Given the description of an element on the screen output the (x, y) to click on. 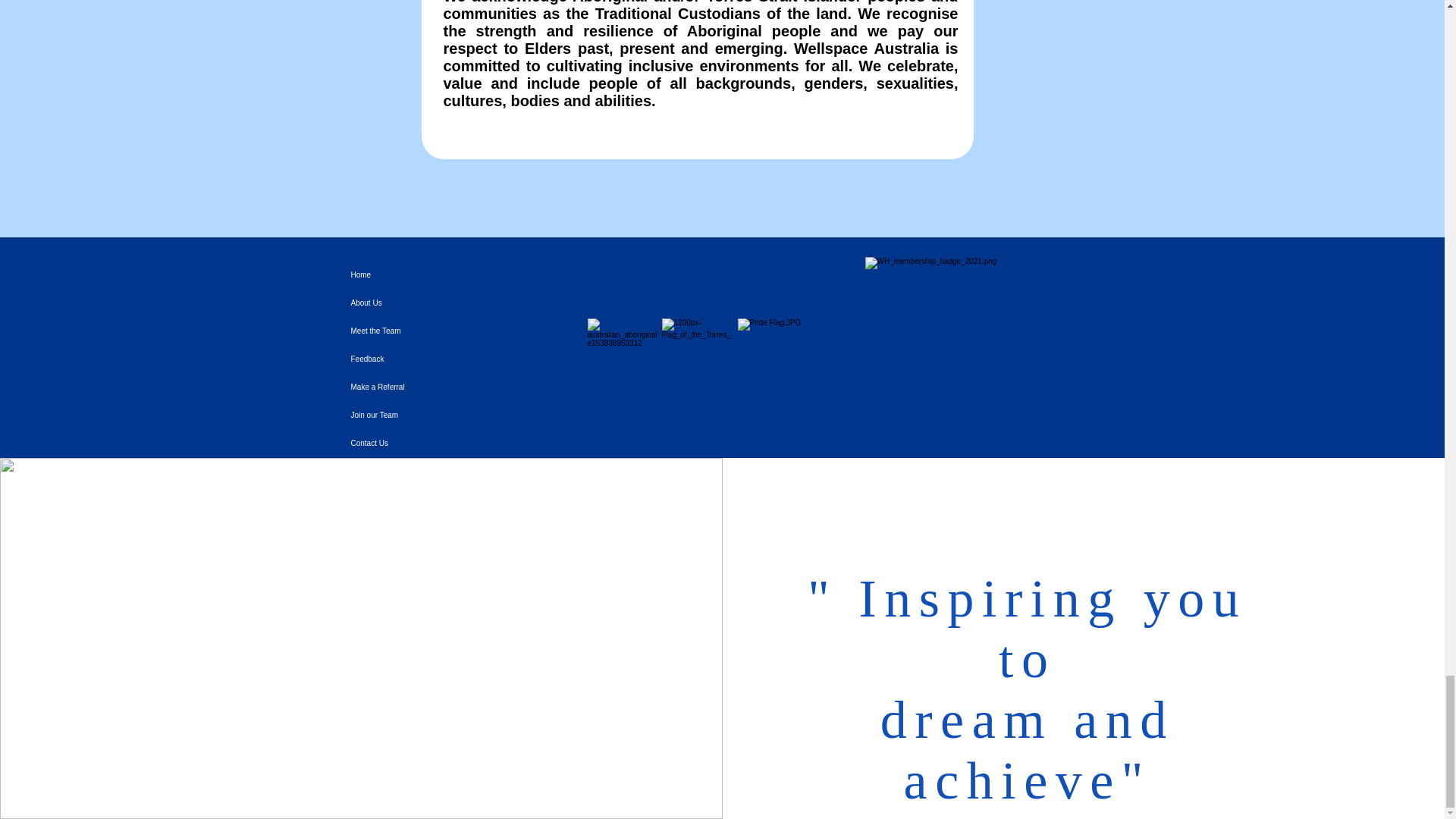
Home (459, 275)
Feedback (459, 358)
Meet the Team (459, 330)
Contact Us (459, 443)
Join our Team (459, 415)
Make a Referral (459, 387)
About Us (459, 302)
